Given the description of an element on the screen output the (x, y) to click on. 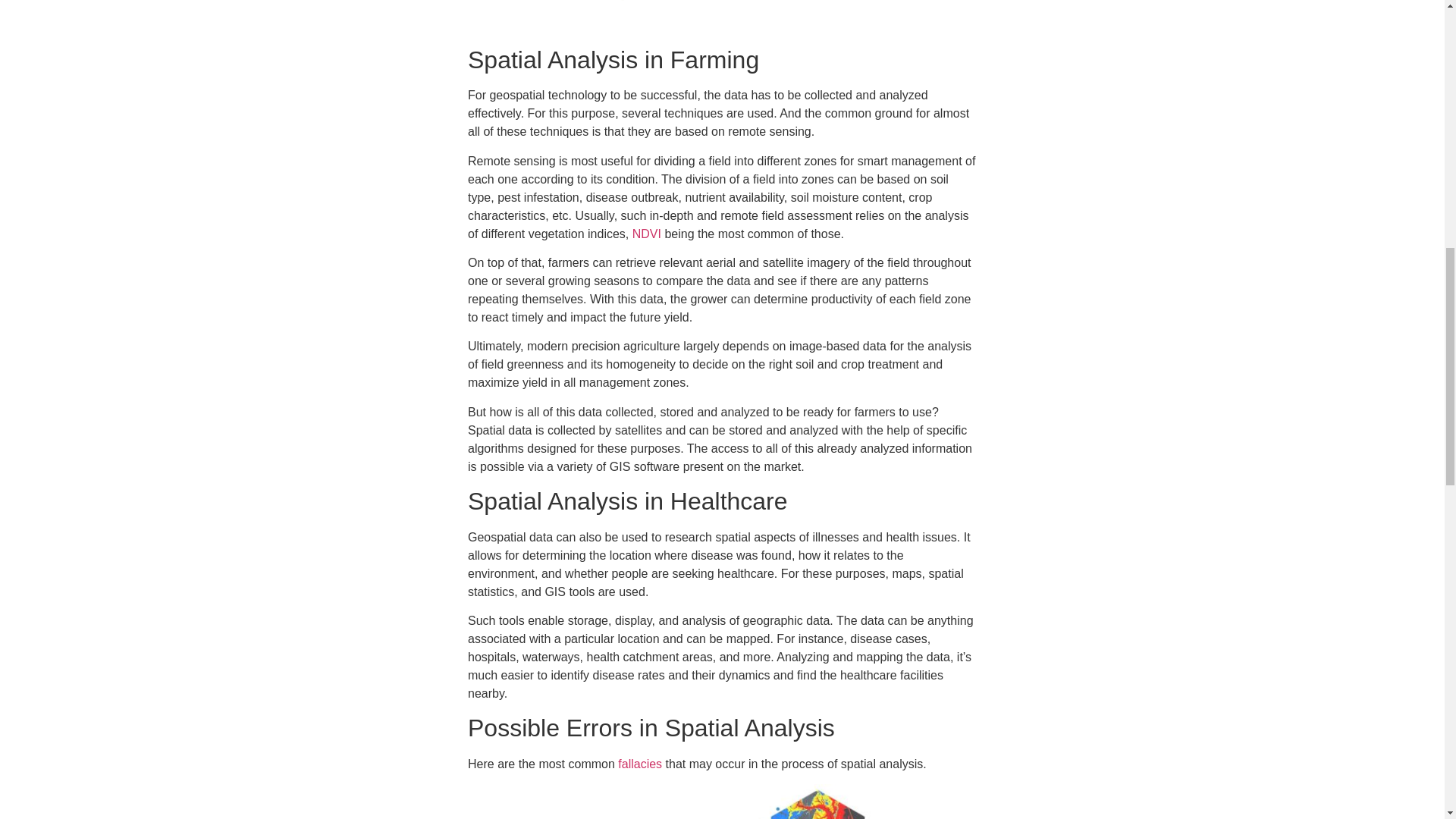
NDVI (646, 233)
fallacies (639, 763)
